Given the description of an element on the screen output the (x, y) to click on. 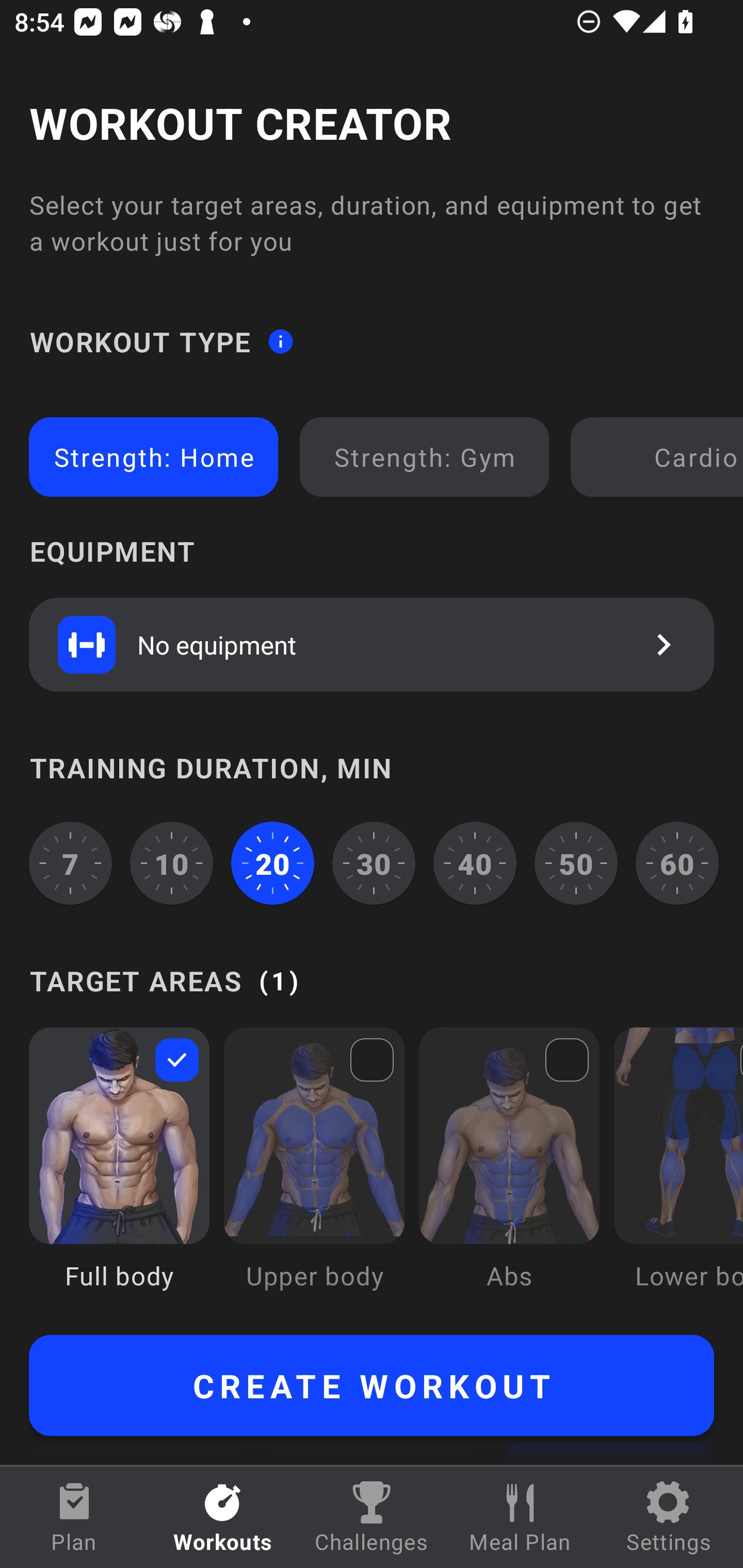
Workout type information button (280, 340)
Strength: Gym (423, 457)
Cardio (660, 457)
No equipment (371, 644)
7 (70, 862)
10 (171, 862)
20 (272, 862)
30 (373, 862)
40 (474, 862)
50 (575, 862)
60 (676, 862)
Upper body (313, 1172)
Abs (509, 1172)
Lower body (678, 1172)
CREATE WORKOUT (371, 1385)
 Plan  (74, 1517)
 Challenges  (371, 1517)
 Meal Plan  (519, 1517)
 Settings  (668, 1517)
